Given the description of an element on the screen output the (x, y) to click on. 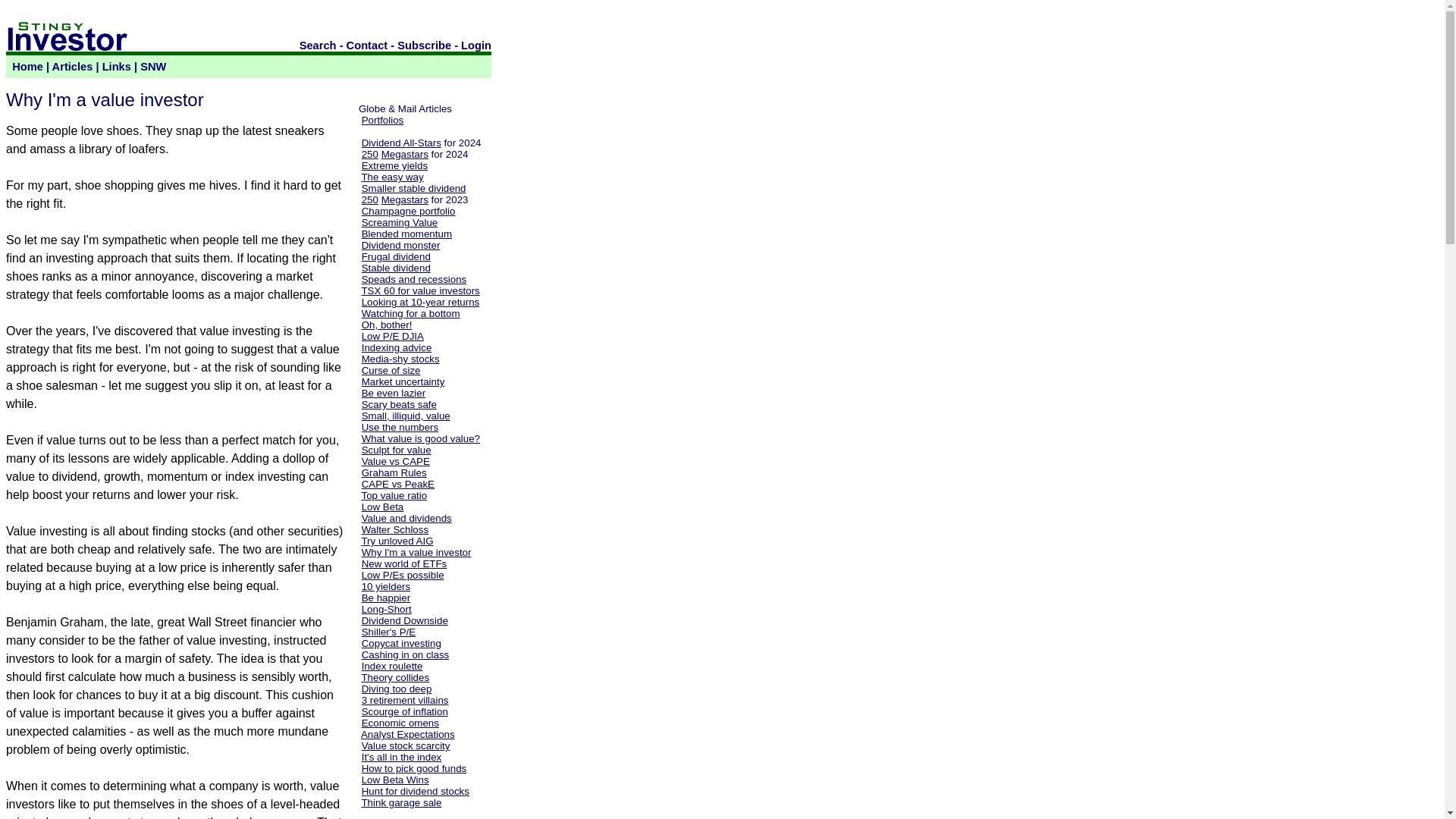
Login (476, 45)
250 (369, 199)
Use the numbers (400, 427)
Megastars (404, 153)
Media-shy stocks (400, 358)
Watching for a bottom (410, 313)
Dividend monster (401, 244)
Screaming Value (399, 222)
TSX 60 for value investors (420, 290)
Contact (367, 45)
Sculpt for value (395, 449)
The easy way (392, 176)
Speads and recessions (414, 279)
Market uncertainty (403, 381)
Looking at 10-year returns (420, 301)
